Given the description of an element on the screen output the (x, y) to click on. 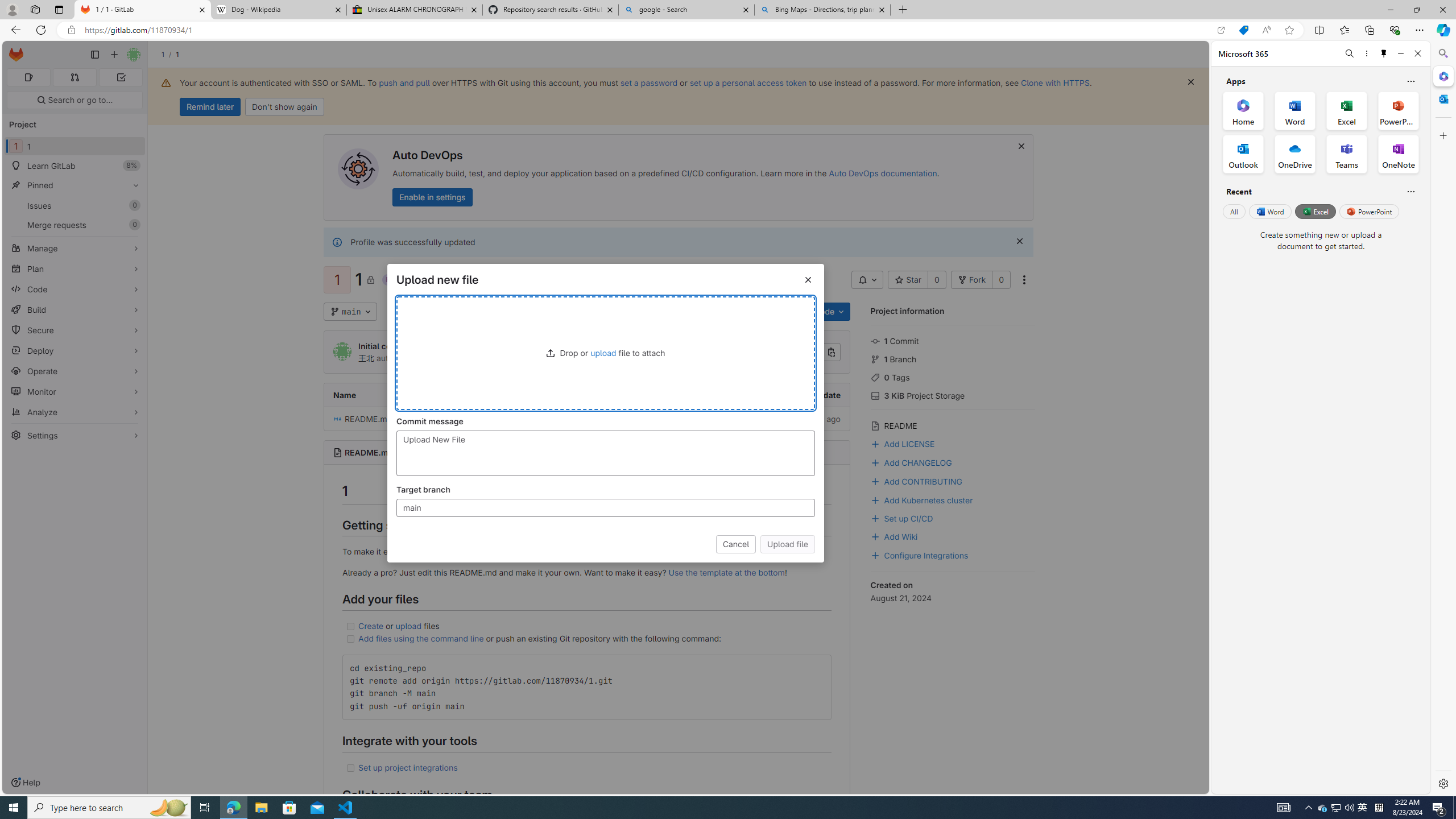
Add to tree (418, 312)
Plan (74, 268)
Class: s16 icon gl-mr-3 gl-text-gray-500 (874, 425)
1 (389, 311)
Analyze (74, 411)
PowerPoint (1369, 210)
Dismiss Auto DevOps box (1020, 146)
Deploy (74, 350)
1 Branch (952, 358)
Set up project integrations (407, 767)
Configure Integrations (919, 554)
Merge requests0 (74, 224)
OneDrive Office App (1295, 154)
